Given the description of an element on the screen output the (x, y) to click on. 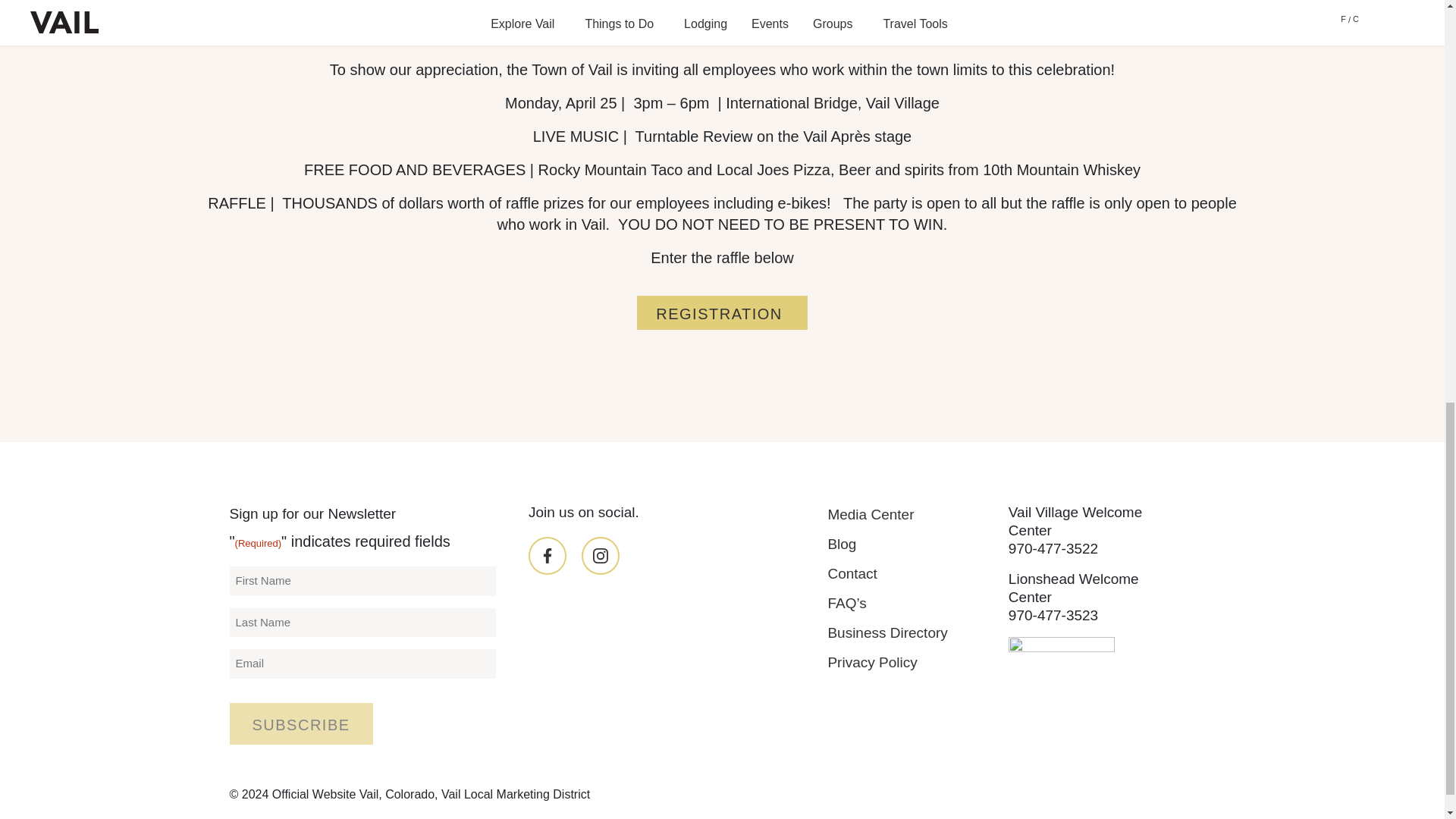
instagram (600, 555)
facebook (547, 555)
Subscribe (300, 723)
